Given the description of an element on the screen output the (x, y) to click on. 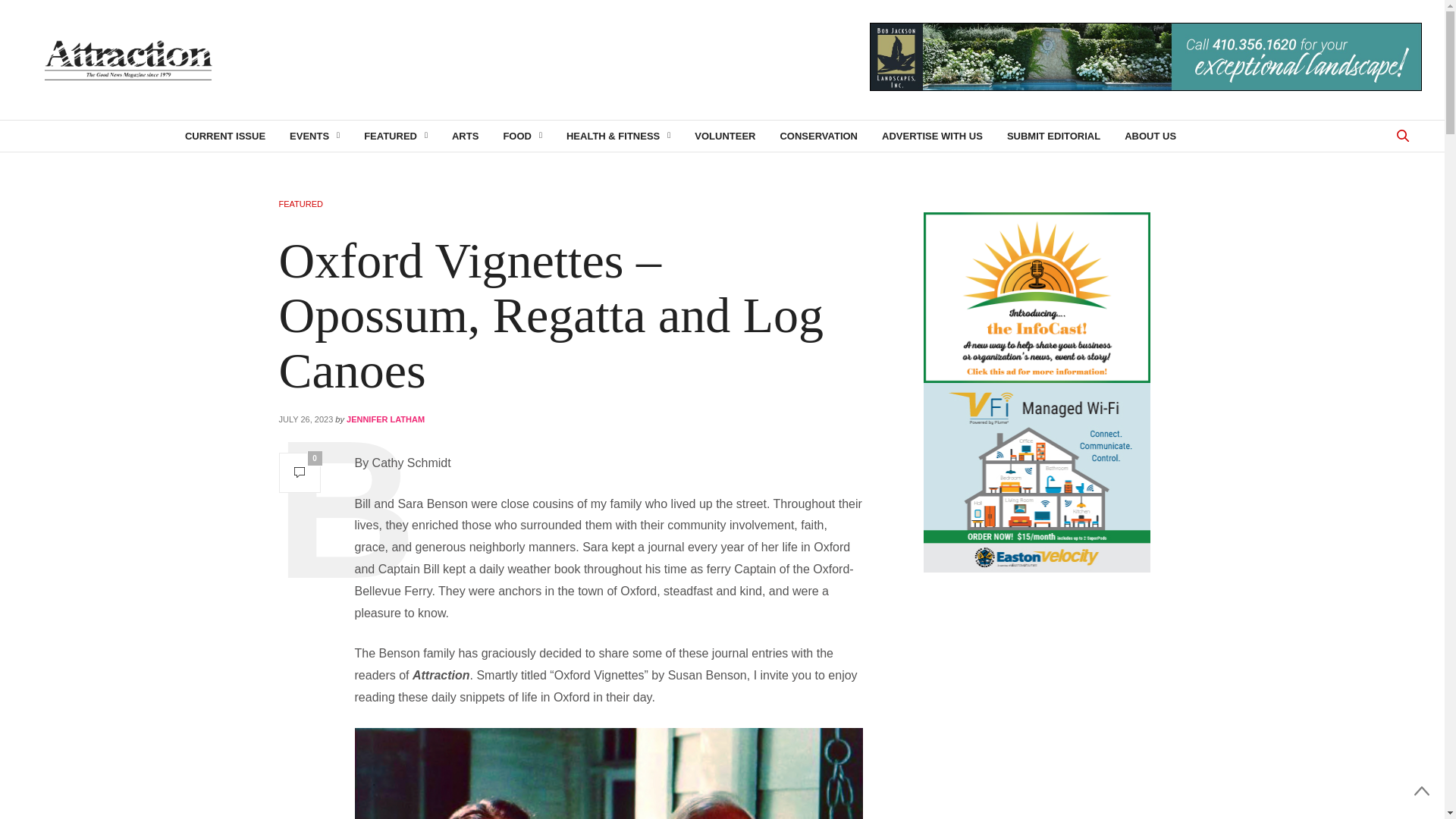
Attraction (127, 59)
Featured Stories (396, 135)
Posts by Jennifer Latham (385, 419)
